Given the description of an element on the screen output the (x, y) to click on. 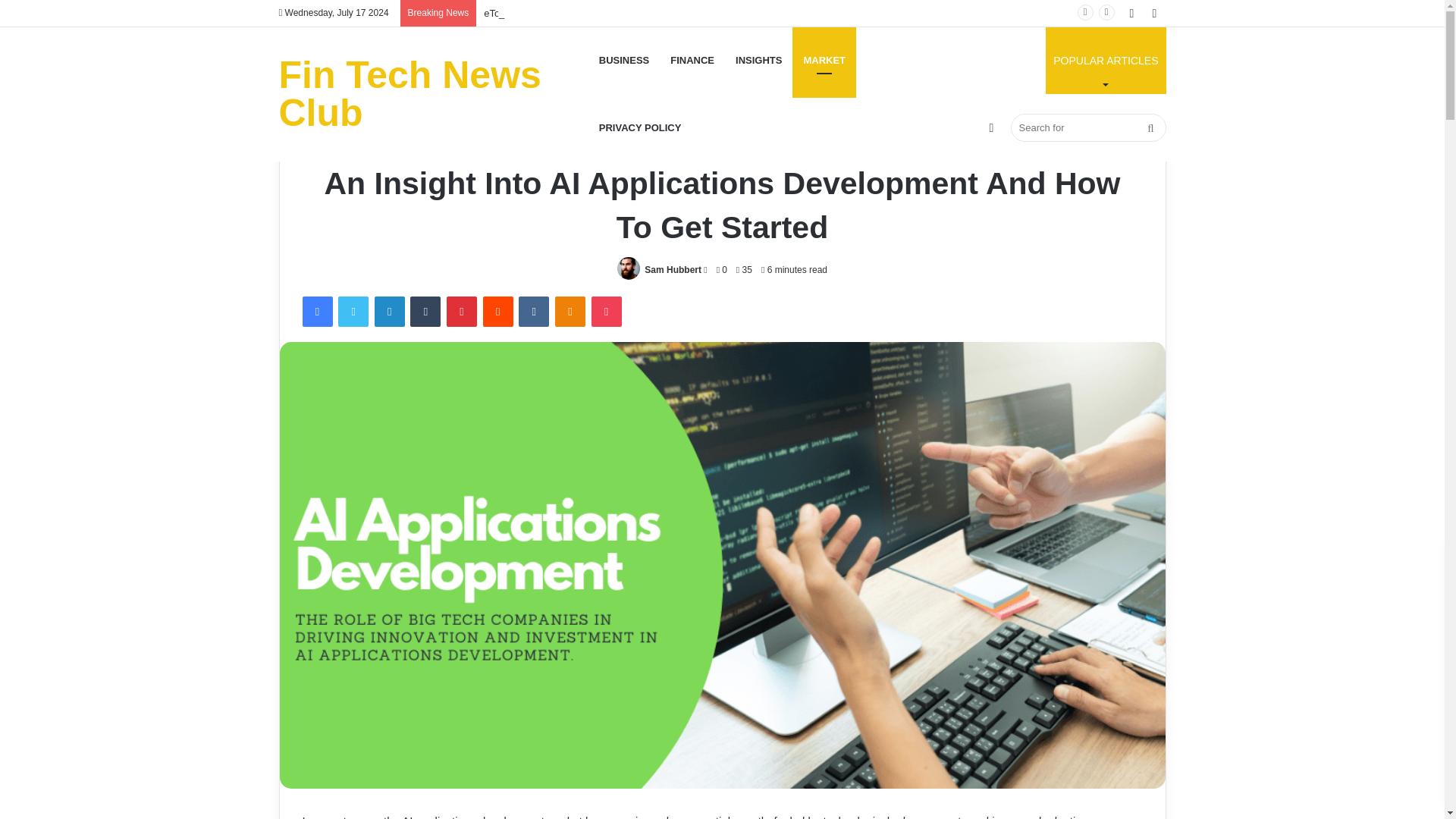
Tumblr (425, 311)
FINANCE (692, 60)
BUSINESS (623, 60)
MARKET (824, 60)
INSIGHTS (758, 60)
VKontakte (533, 311)
Sam Hubbert (673, 269)
Facebook (316, 311)
Pinterest (461, 311)
Fin Tech News Club (433, 93)
Twitter (352, 311)
Search for (1088, 127)
LinkedIn (389, 311)
Fin Tech News Club (433, 93)
PRIVACY POLICY (640, 127)
